Given the description of an element on the screen output the (x, y) to click on. 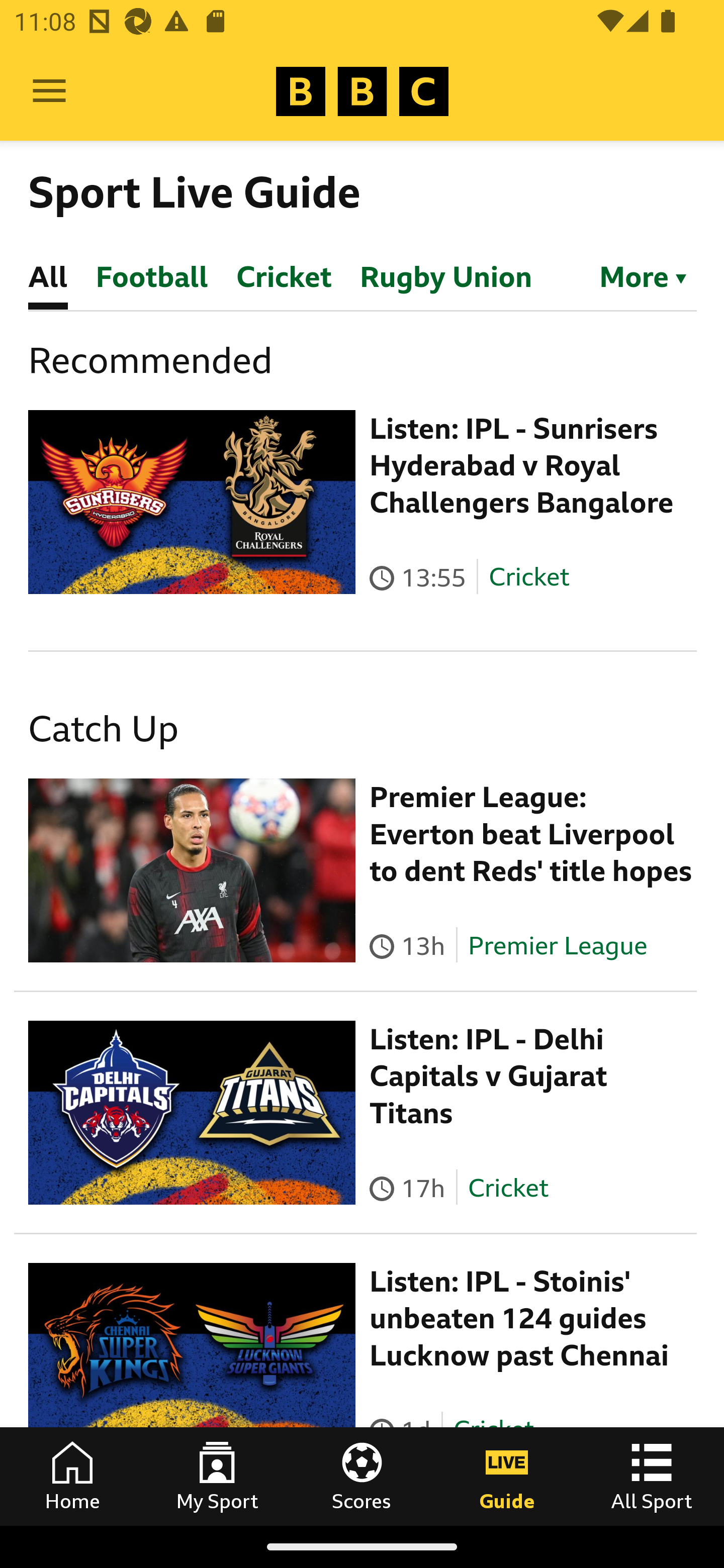
Open Menu (49, 91)
Cricket (528, 576)
Premier League (557, 945)
Listen: IPL - Delhi Capitals v Gujarat Titans (488, 1076)
Cricket (507, 1186)
Home (72, 1475)
My Sport (216, 1475)
Scores (361, 1475)
All Sport (651, 1475)
